Given the description of an element on the screen output the (x, y) to click on. 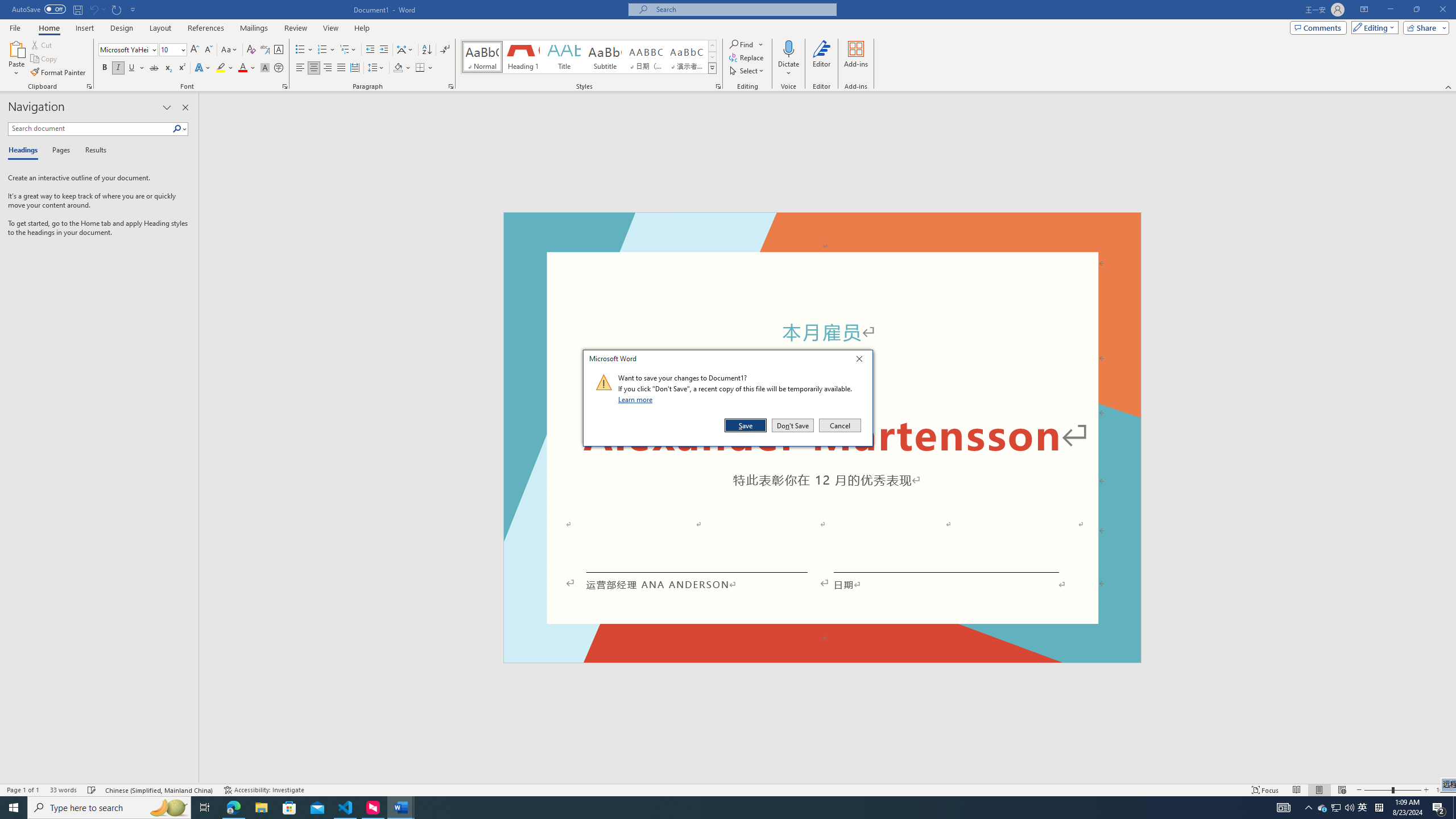
Shrink Font (208, 49)
Font... (285, 85)
Subscript (167, 67)
Change Case (229, 49)
Zoom In (1426, 790)
Phonetic Guide... (264, 49)
Show desktop (1454, 807)
Ribbon Display Options (1364, 9)
References (205, 28)
Home (48, 28)
Paragraph... (450, 85)
Grow Font (193, 49)
Zoom Out (1377, 790)
Open (182, 49)
Q2790: 100% (1349, 807)
